Given the description of an element on the screen output the (x, y) to click on. 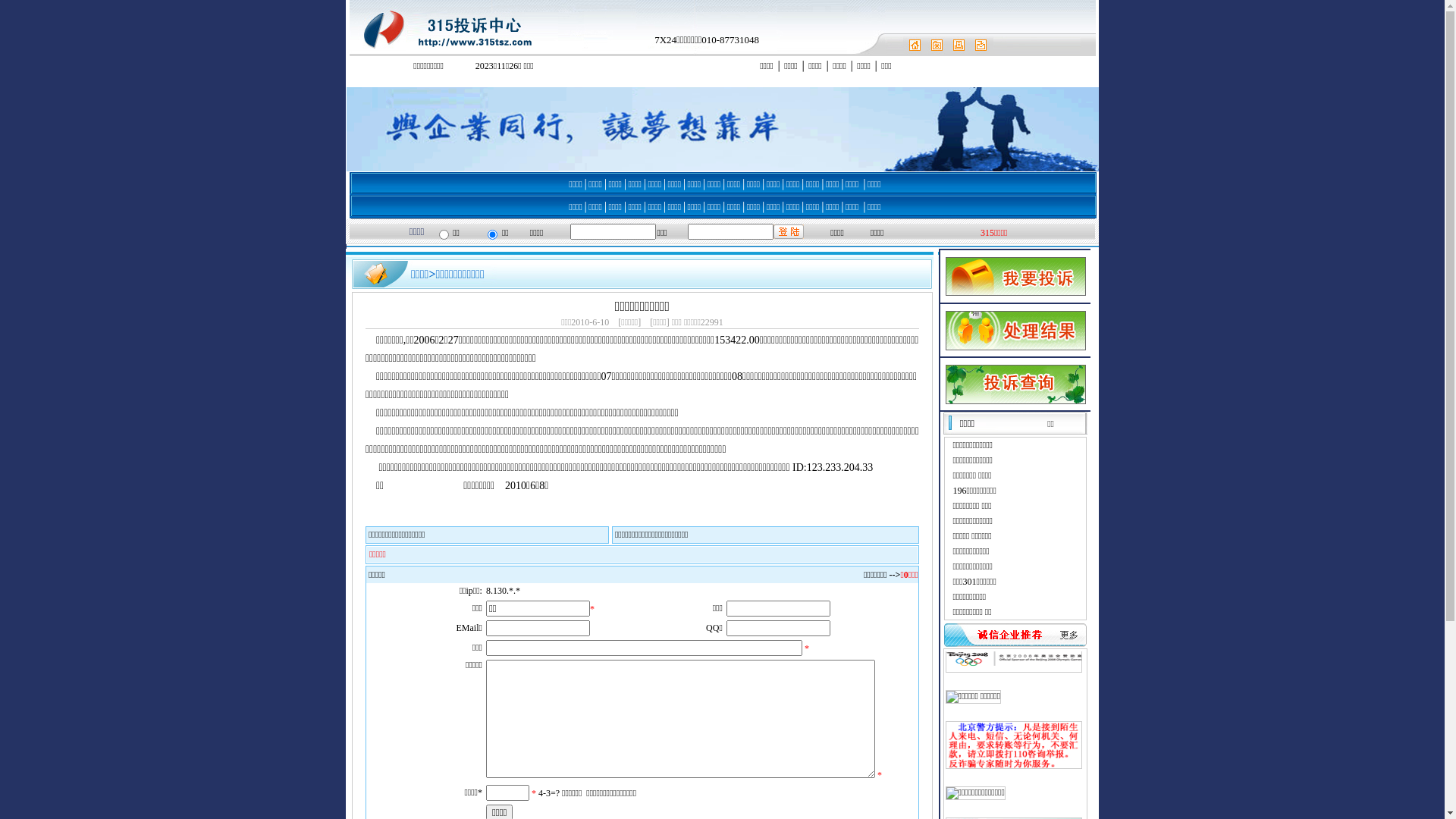
afd1 Element type: text (354, 80)
